Given the description of an element on the screen output the (x, y) to click on. 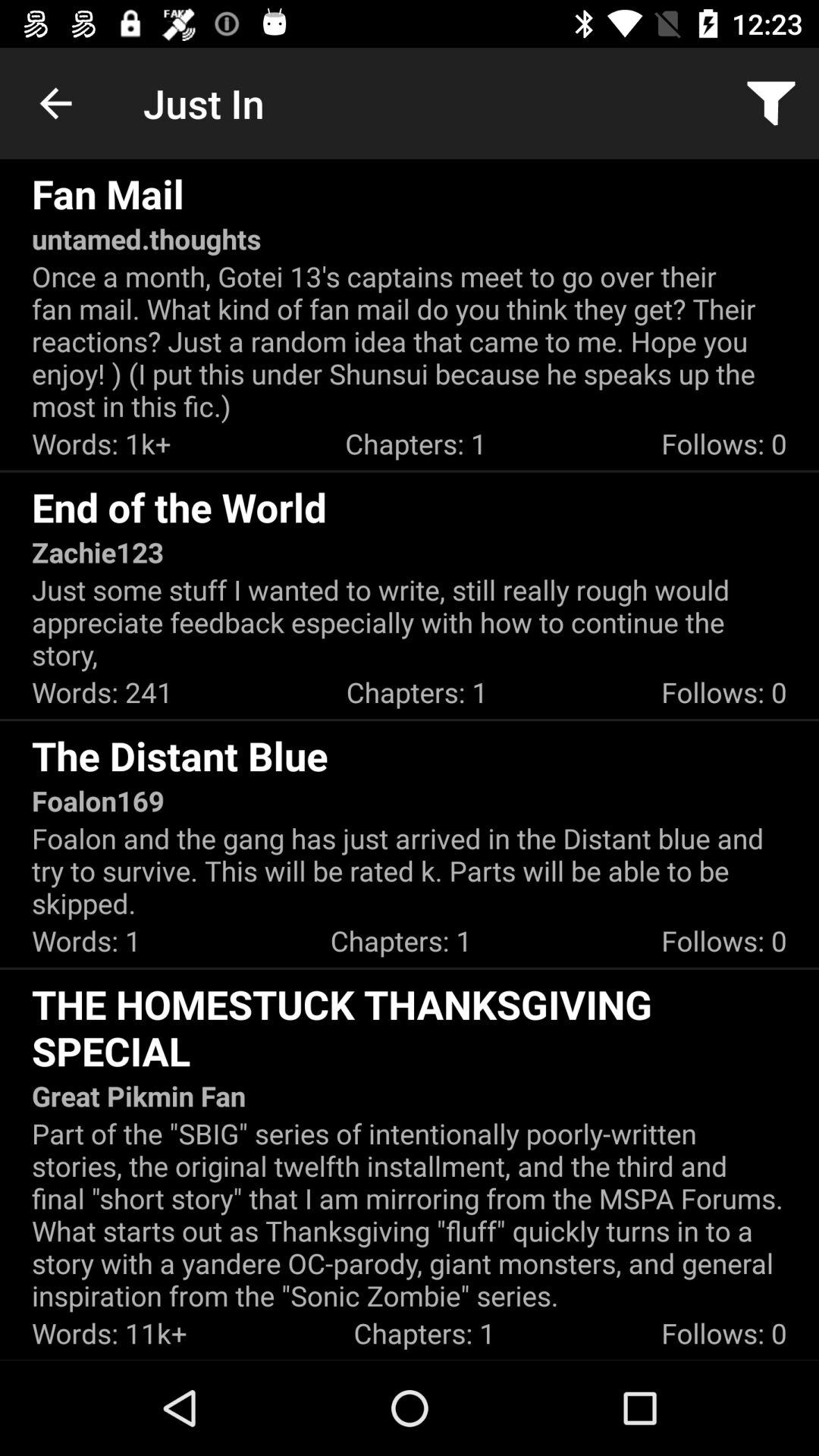
flip until great pikmin fan icon (138, 1095)
